Given the description of an element on the screen output the (x, y) to click on. 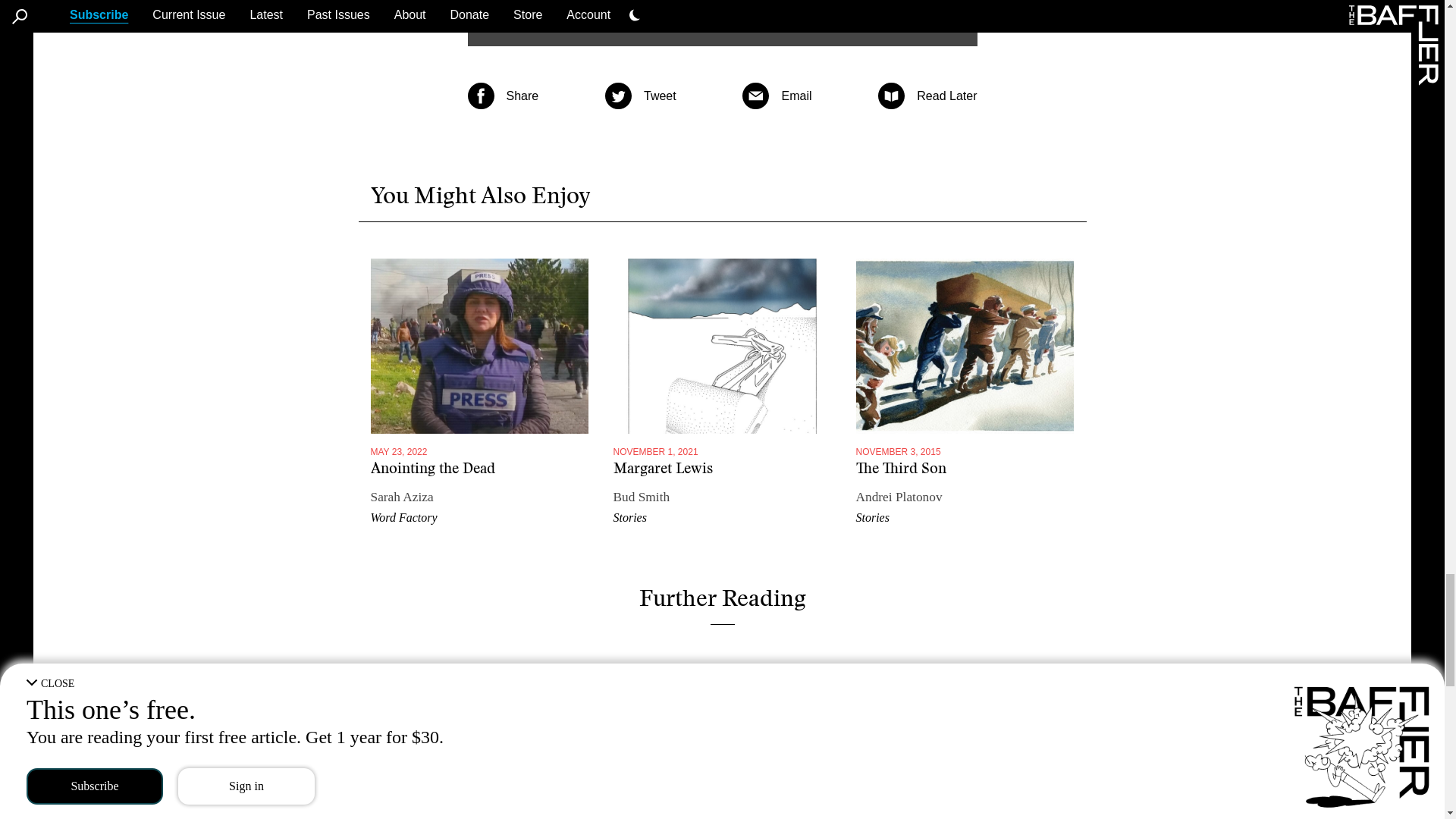
Subscribe (721, 4)
Subscribe (721, 4)
